Given the description of an element on the screen output the (x, y) to click on. 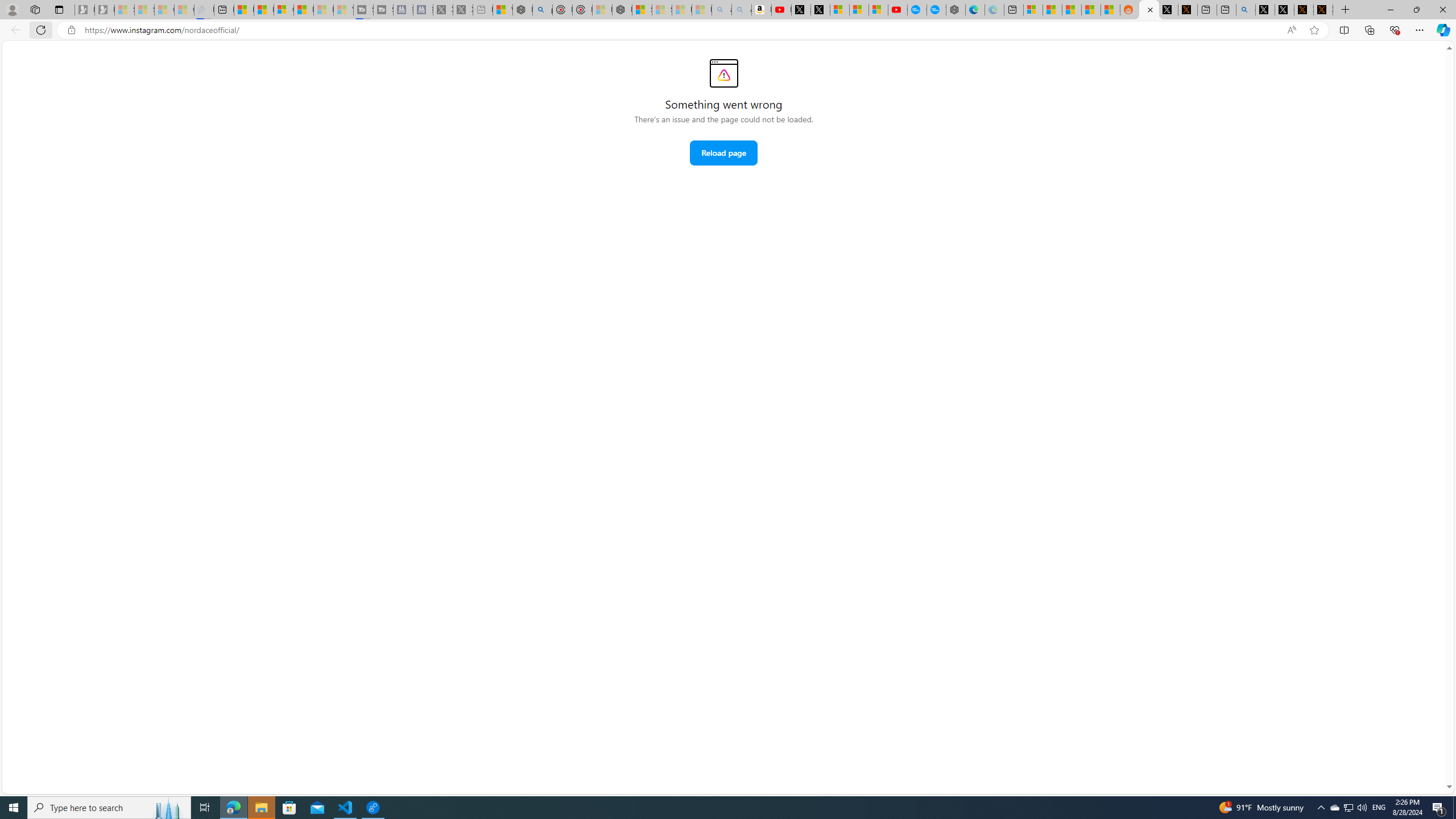
Day 1: Arriving in Yemen (surreal to be here) - YouTube (781, 9)
Streaming Coverage | T3 - Sleeping (362, 9)
Address and search bar (680, 29)
Microsoft account | Microsoft Account Privacy Settings (1033, 9)
Shanghai, China Weather trends | Microsoft Weather (1110, 9)
Overview (283, 9)
X (820, 9)
Error (723, 72)
GitHub (@github) / X (1283, 9)
Opinion: Op-Ed and Commentary - USA TODAY (916, 9)
